Given the description of an element on the screen output the (x, y) to click on. 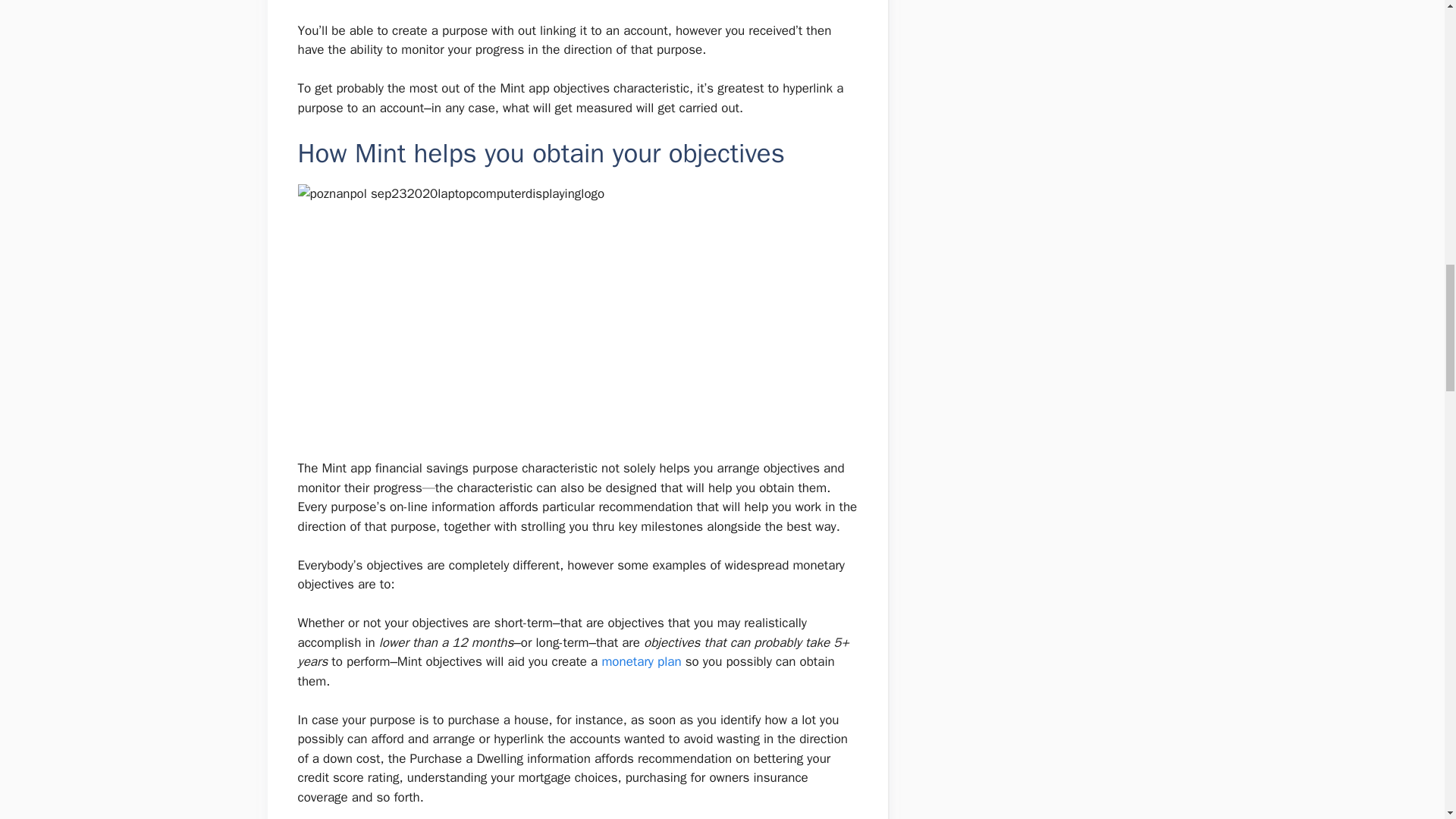
monetary plan (641, 661)
